Given the description of an element on the screen output the (x, y) to click on. 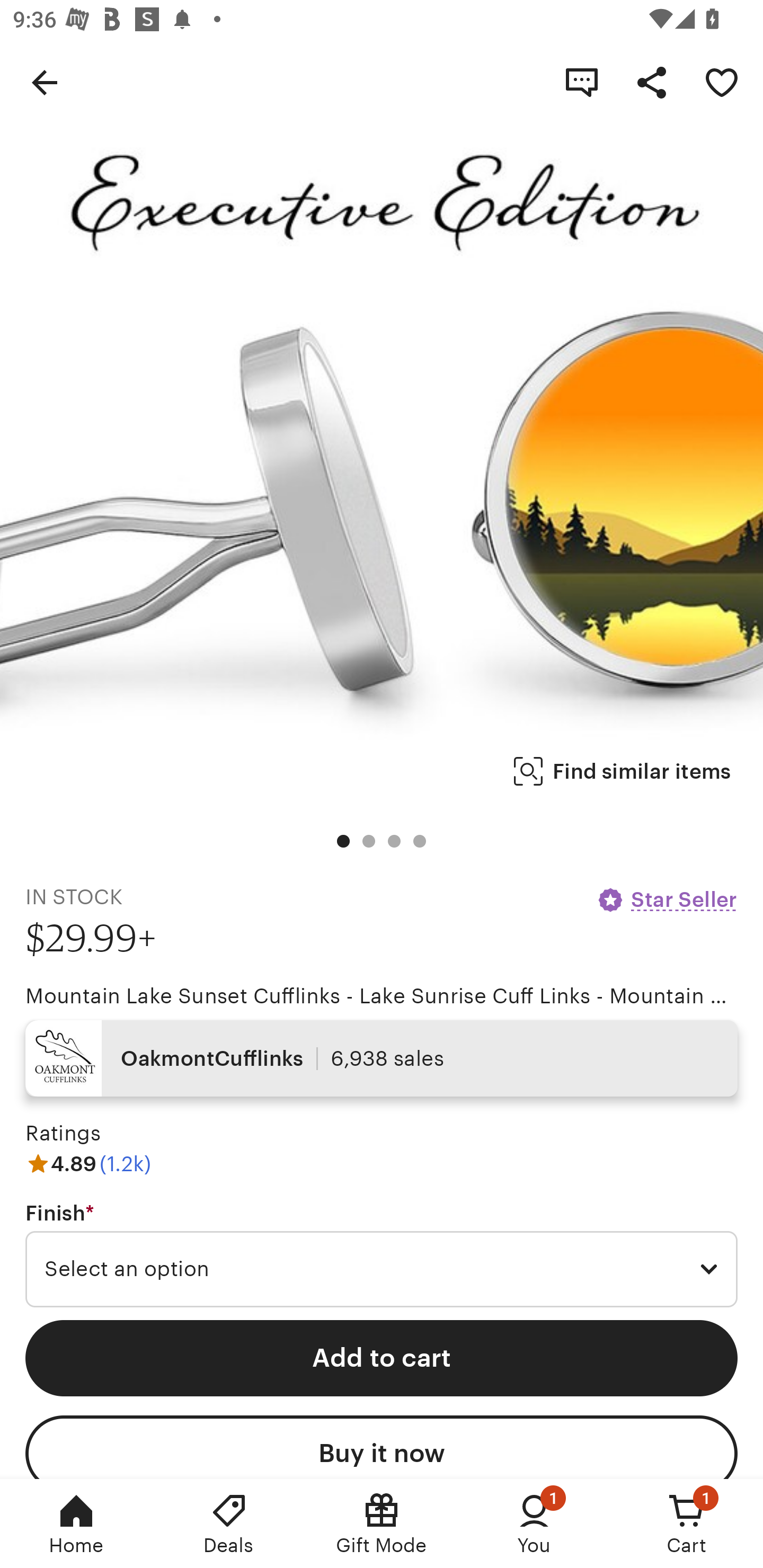
Navigate up (44, 81)
Contact shop (581, 81)
Share (651, 81)
Find similar items (622, 771)
Star Seller (666, 899)
OakmontCufflinks 6,938 sales (381, 1058)
Ratings (62, 1133)
4.89 (1.2k) (88, 1163)
Finish * Required Select an option (381, 1254)
Select an option (381, 1268)
Add to cart (381, 1358)
Buy it now (381, 1446)
Deals (228, 1523)
Gift Mode (381, 1523)
You, 1 new notification You (533, 1523)
Cart, 1 new notification Cart (686, 1523)
